Given the description of an element on the screen output the (x, y) to click on. 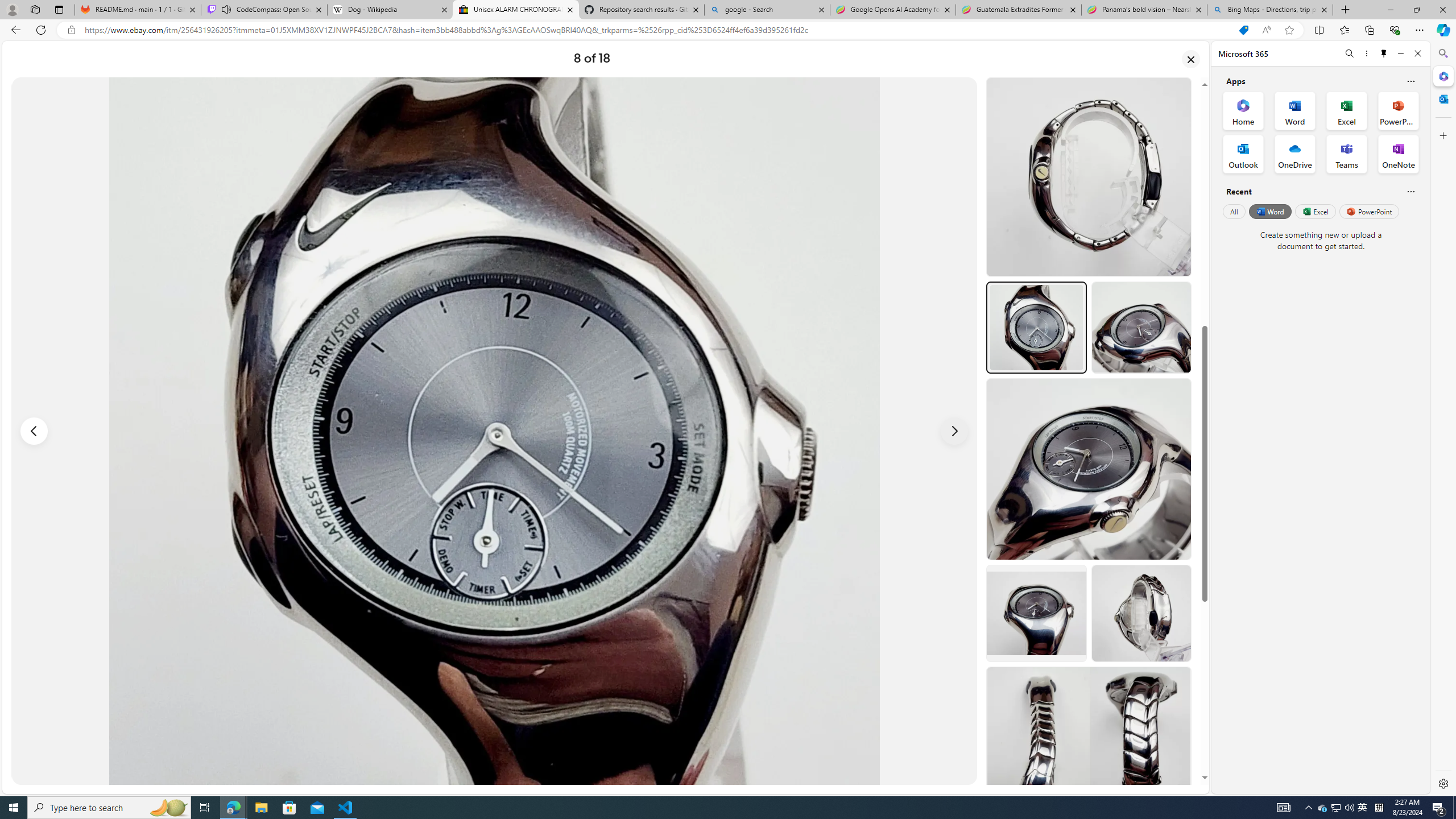
All (1233, 210)
Outlook Office App (1243, 154)
PowerPoint Office App (1398, 110)
Mute tab (226, 8)
Is this helpful? (1410, 191)
Excel (1315, 210)
